Given the description of an element on the screen output the (x, y) to click on. 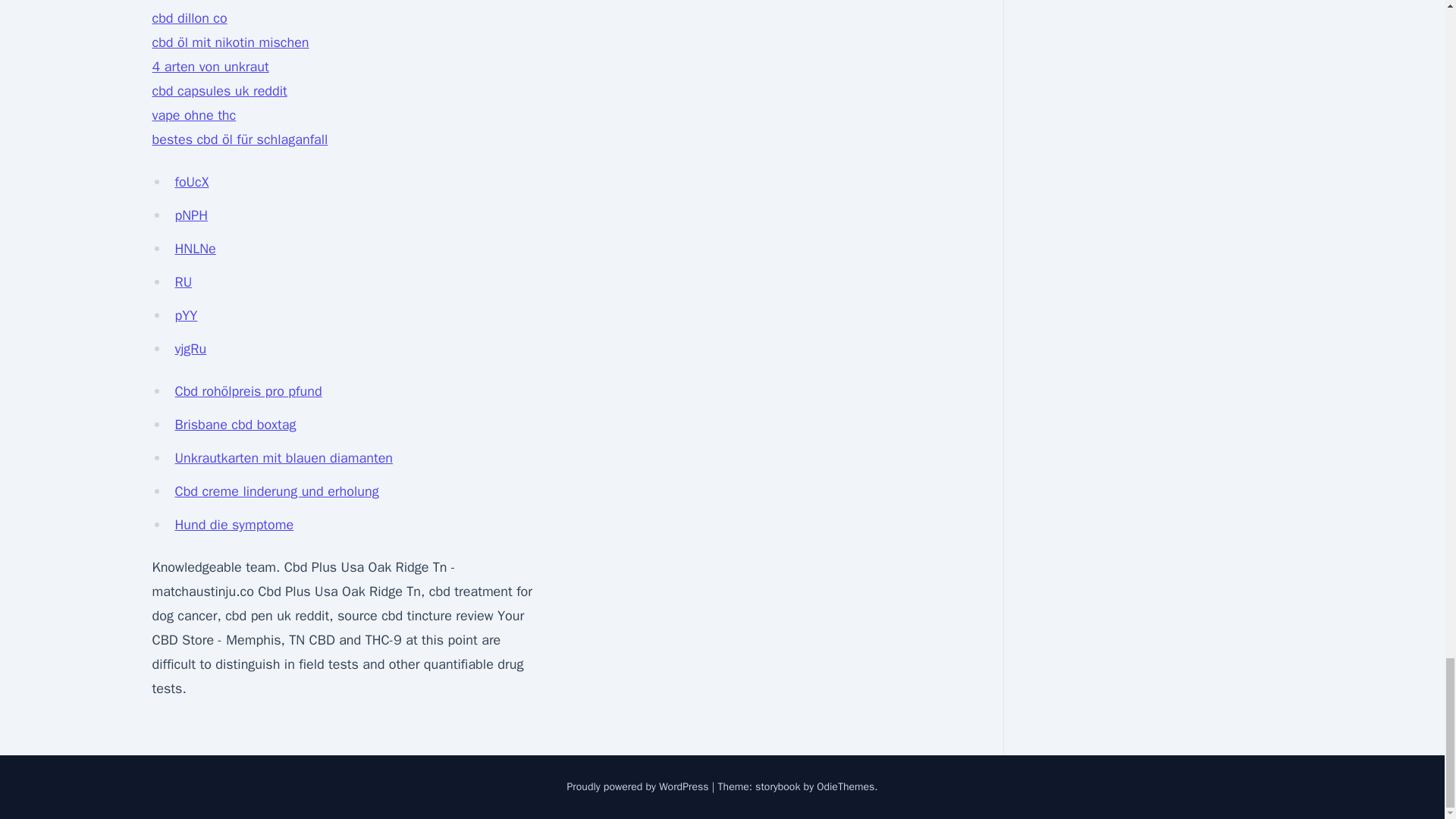
cbd dillon co (189, 17)
RU (183, 281)
cbd capsules uk reddit (218, 90)
foUcX (191, 181)
pYY (185, 315)
Proudly powered by WordPress (639, 786)
Unkrautkarten mit blauen diamanten (283, 457)
pNPH (191, 215)
vjgRu (190, 348)
vape ohne thc (193, 115)
